Given the description of an element on the screen output the (x, y) to click on. 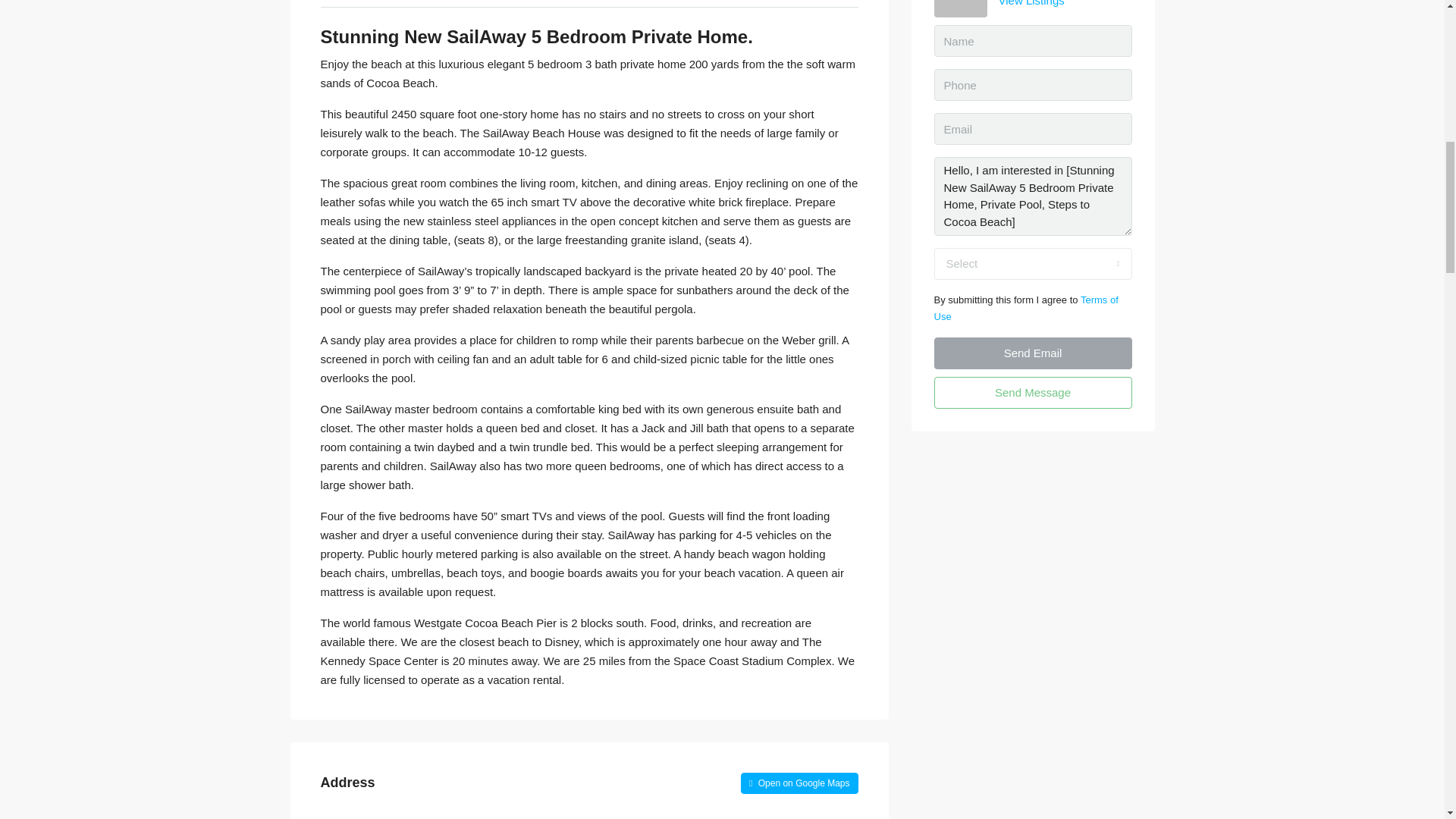
Select (1033, 264)
